Given the description of an element on the screen output the (x, y) to click on. 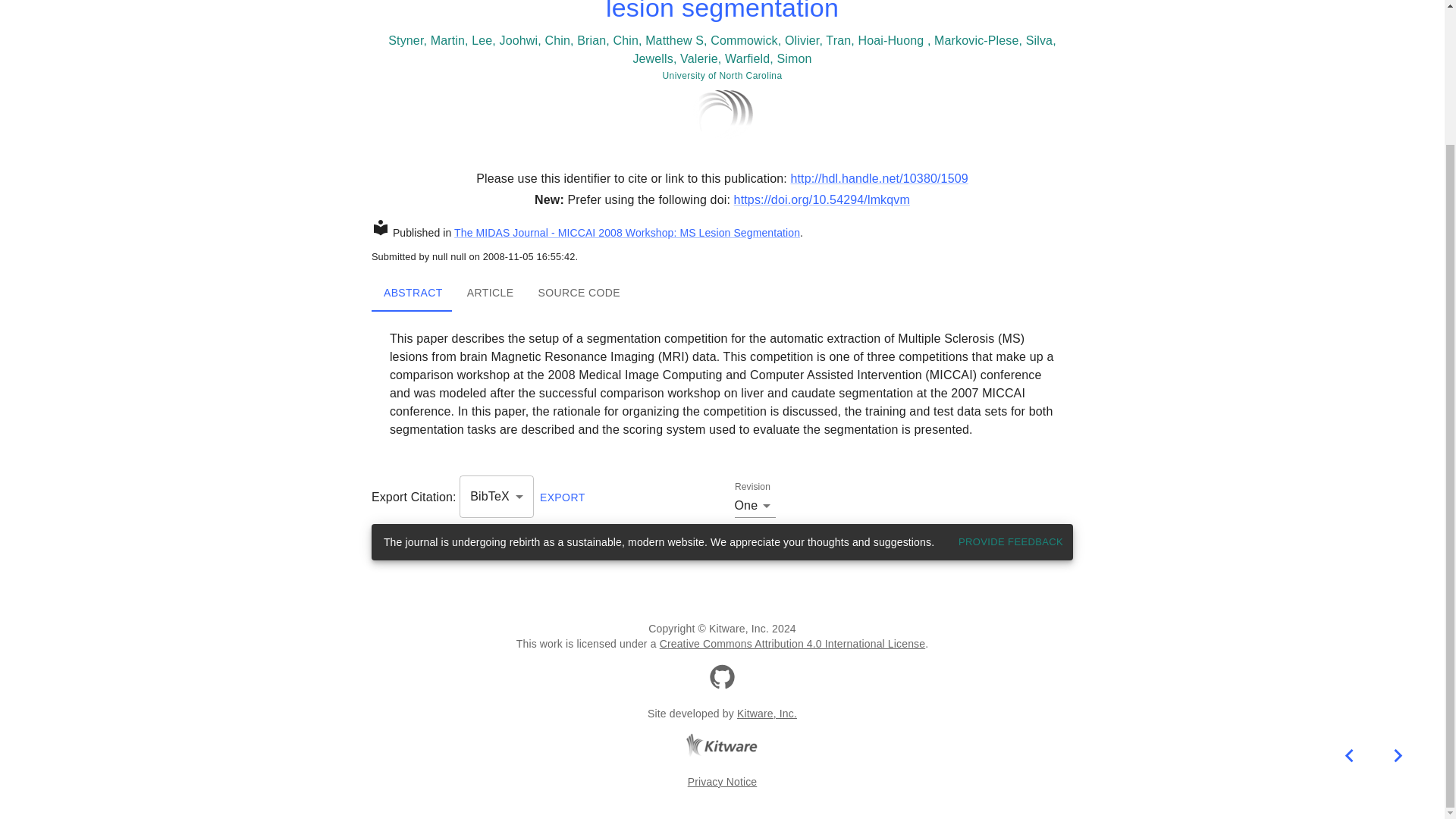
ARTICLE (489, 293)
SOURCE CODE (722, 293)
PROVIDE FEEDBACK (578, 293)
- MICCAI 2008 Workshop: MS Lesion Segmentation (1011, 542)
EXPORT (673, 232)
Kitware, Inc. (562, 497)
Creative Commons Attribution 4.0 International License (766, 713)
ABSTRACT (792, 644)
Privacy Notice (412, 293)
